Given the description of an element on the screen output the (x, y) to click on. 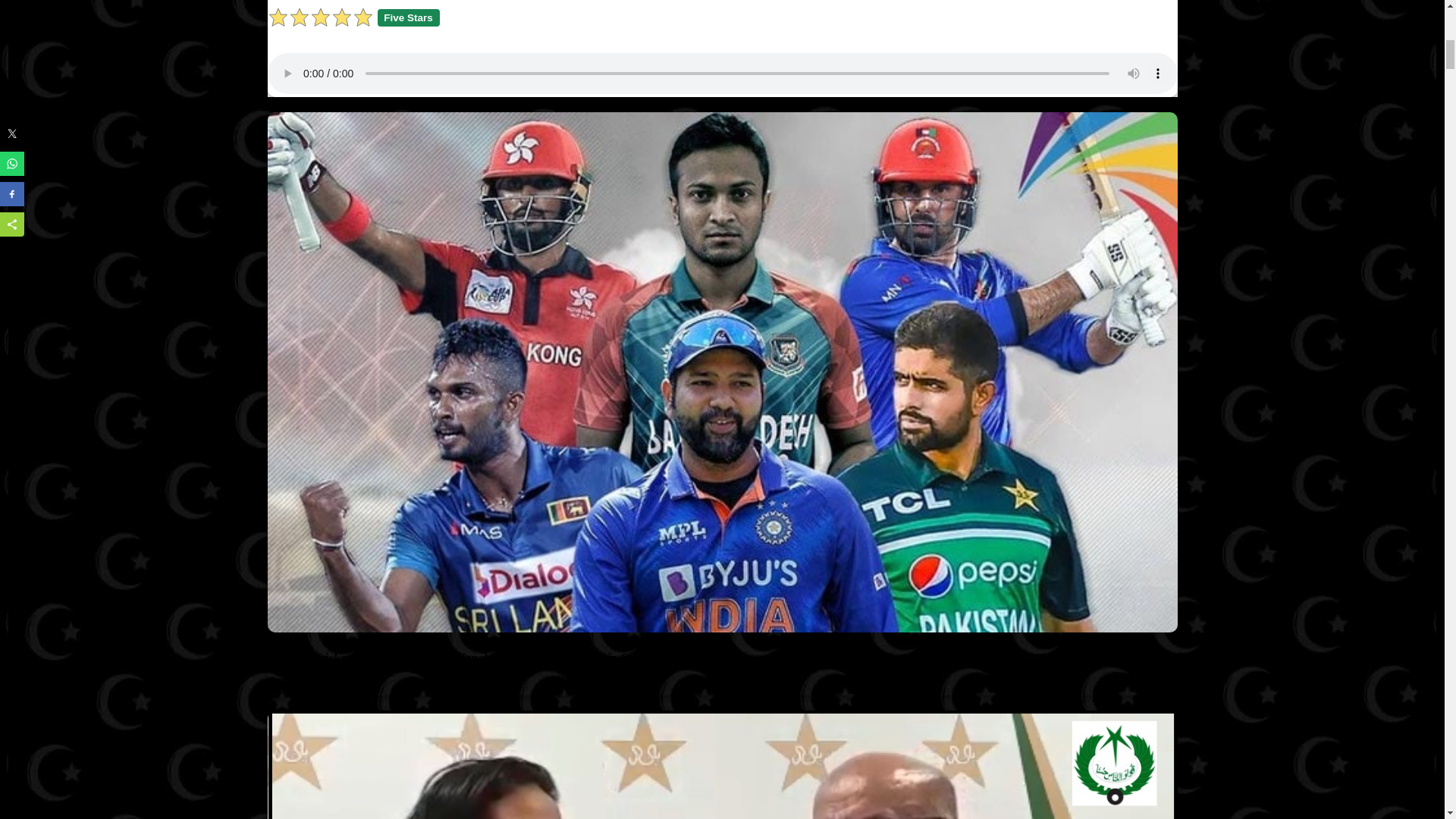
Four Stars (340, 17)
One Star (276, 17)
Two Stars (298, 17)
Three Stars (320, 17)
Five Stars (362, 17)
